Given the description of an element on the screen output the (x, y) to click on. 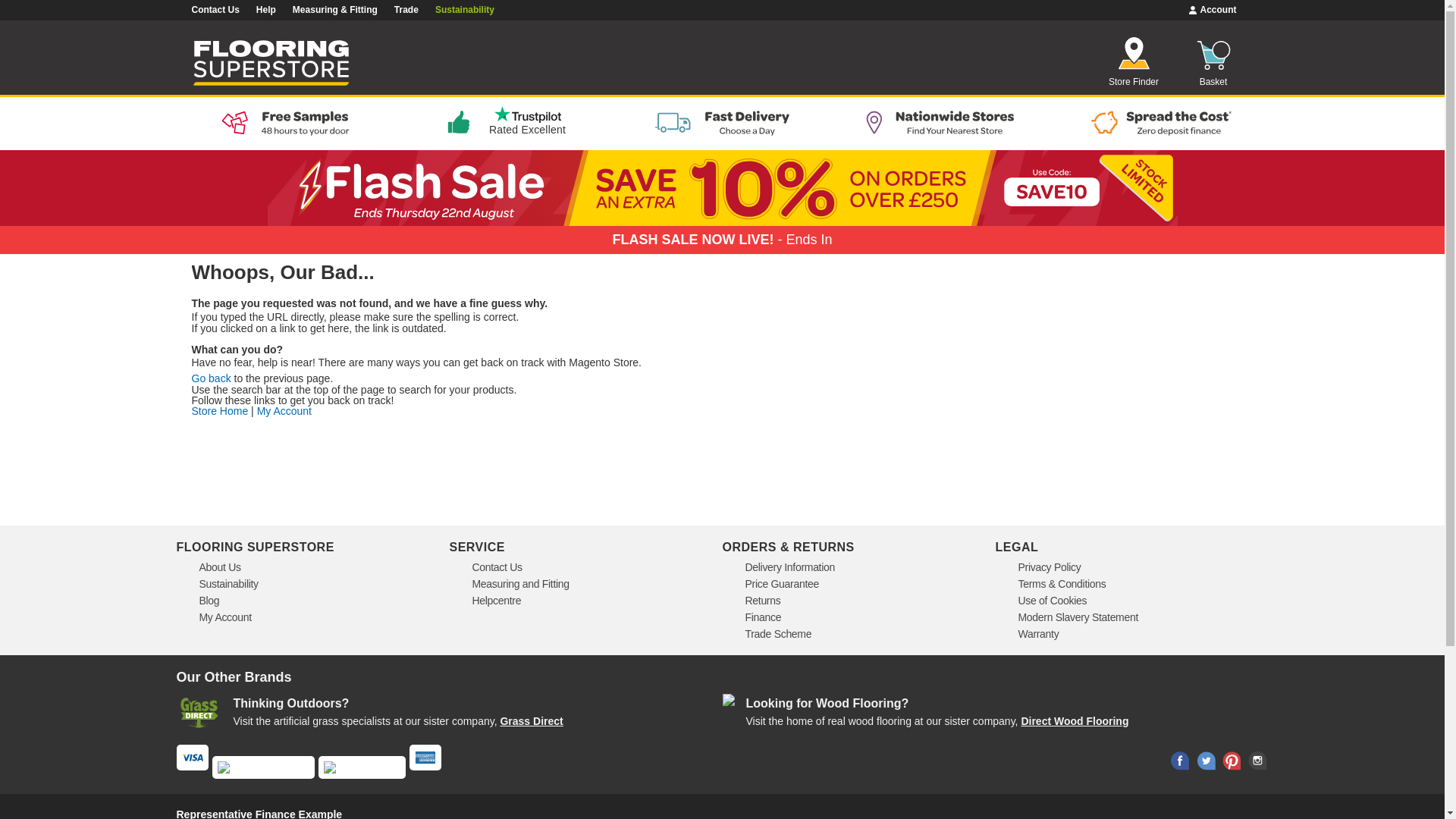
Trade (406, 10)
Sustainability (465, 10)
Store Finder (1133, 62)
Account (1212, 10)
Help (266, 10)
Contact Us (214, 10)
